Given the description of an element on the screen output the (x, y) to click on. 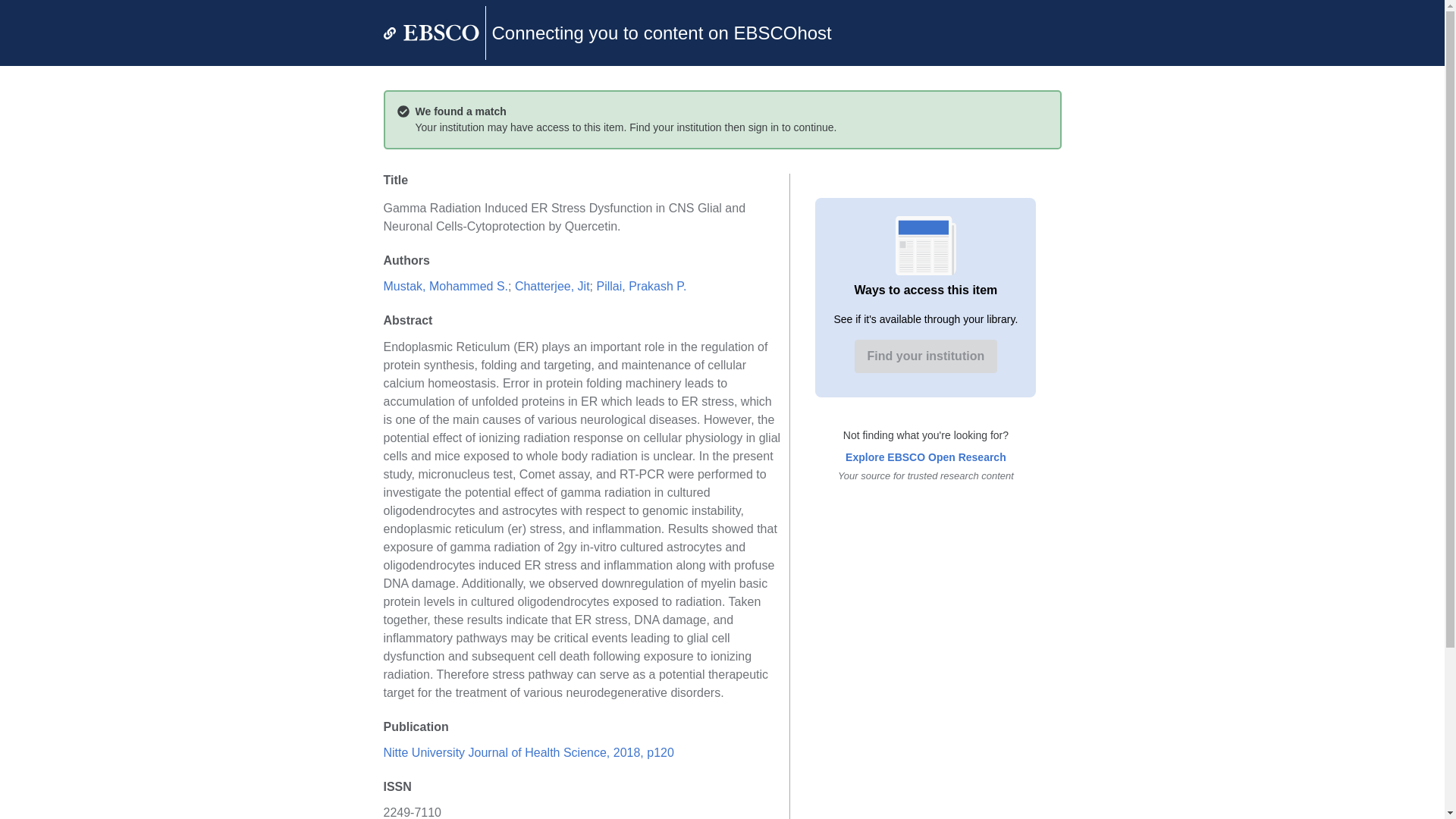
Mustak, Mohammed S. (446, 286)
Nitte University Journal of Health Science, 2018, p120 (529, 752)
Explore EBSCO Open Research (925, 457)
Chatterjee, Jit (552, 286)
Pillai, Prakash P. (640, 286)
Find your institution (925, 356)
